Given the description of an element on the screen output the (x, y) to click on. 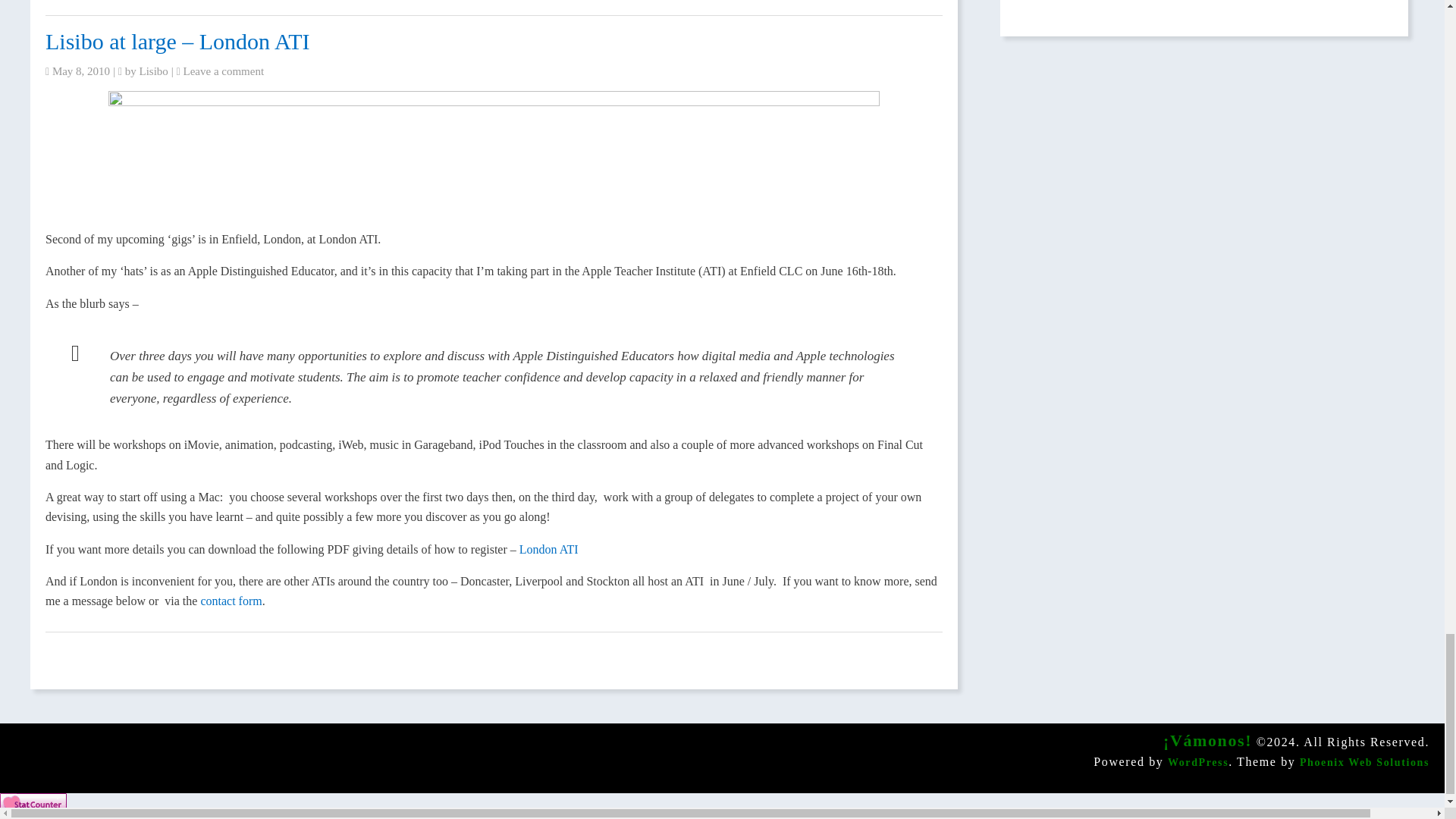
Lisibo (153, 70)
London ATI (548, 549)
Screen shot 2010-05-08 at 13.51.21 (493, 160)
Leave a comment (223, 70)
contact form (231, 600)
